Given the description of an element on the screen output the (x, y) to click on. 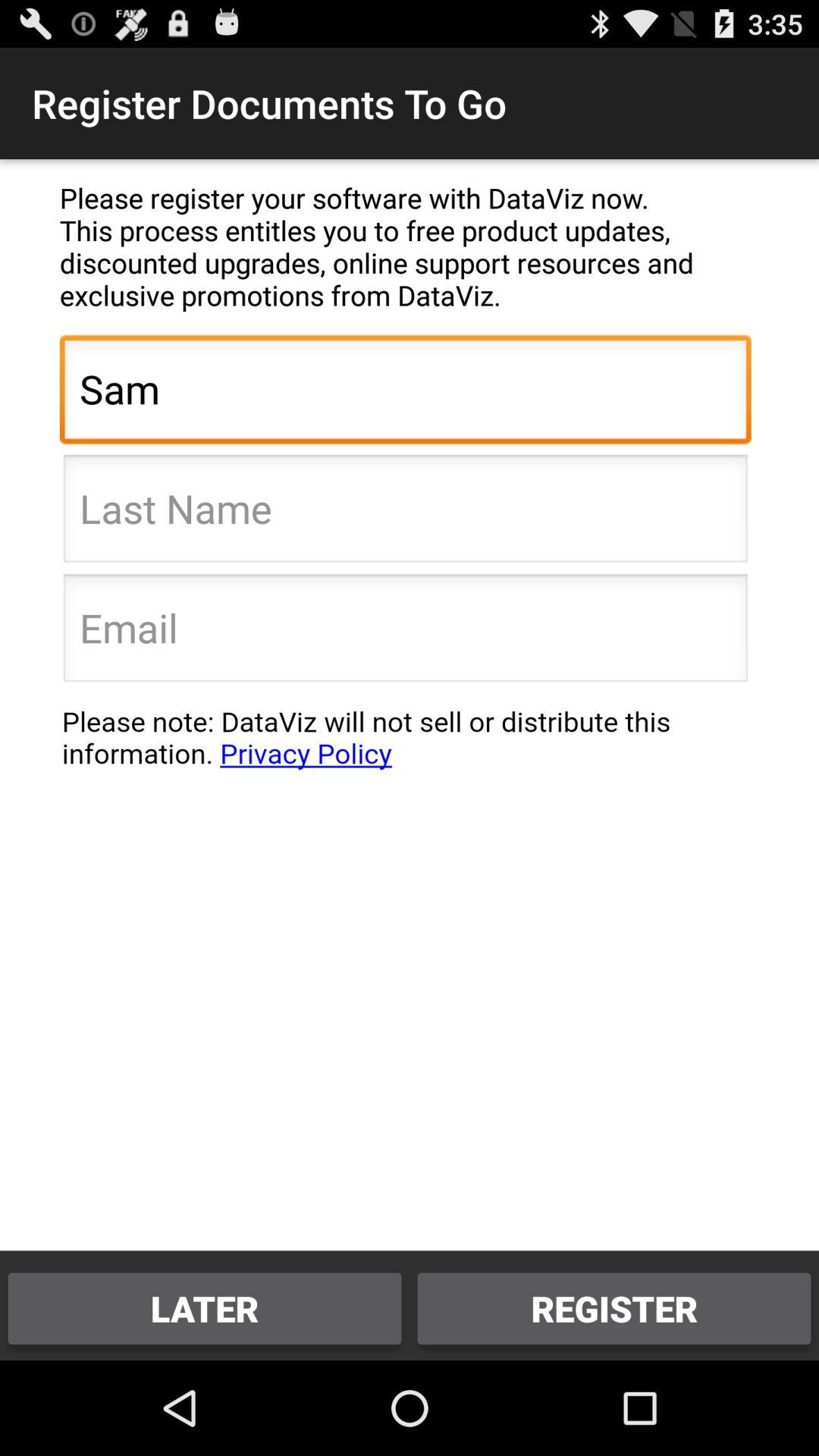
enter email (405, 632)
